Given the description of an element on the screen output the (x, y) to click on. 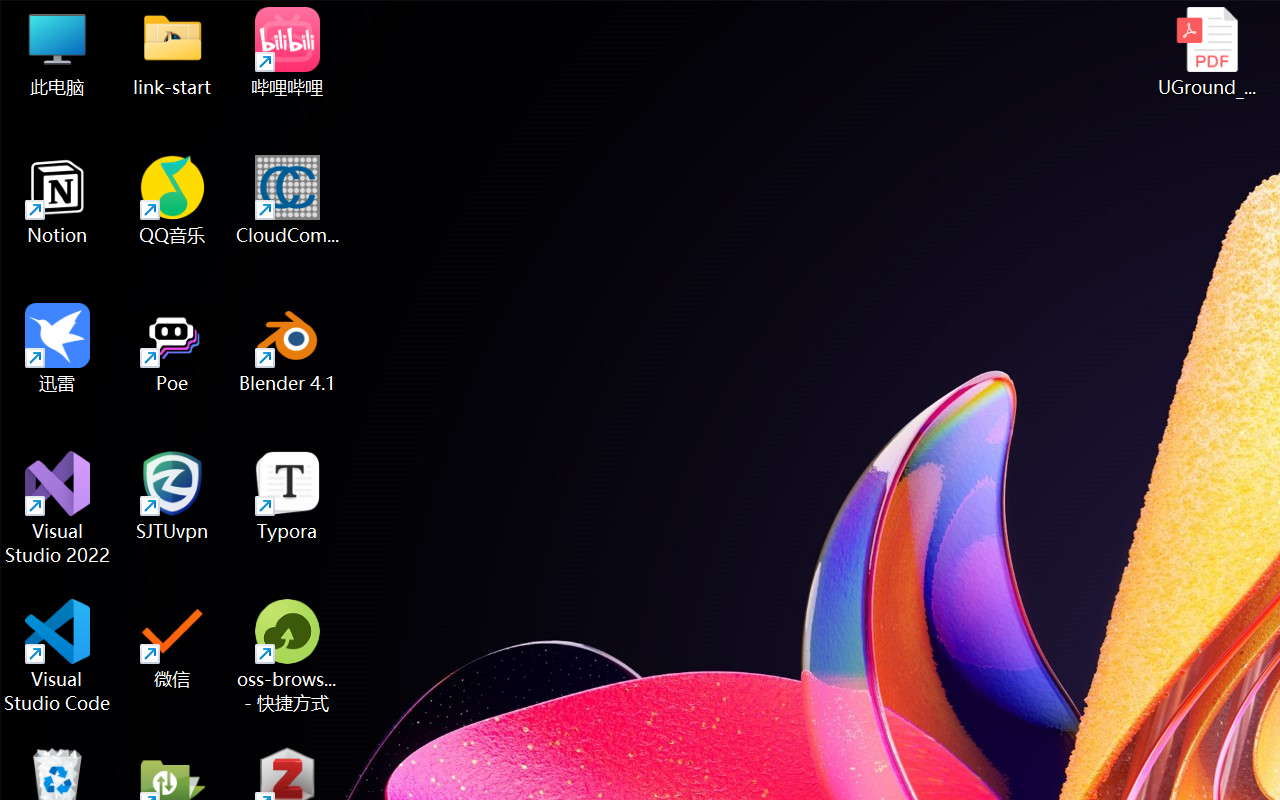
Notion (57, 200)
Typora (287, 496)
Visual Studio Code (57, 656)
CloudCompare (287, 200)
Blender 4.1 (287, 348)
UGround_paper.pdf (1206, 52)
Poe (172, 348)
Visual Studio 2022 (57, 508)
SJTUvpn (172, 496)
